Given the description of an element on the screen output the (x, y) to click on. 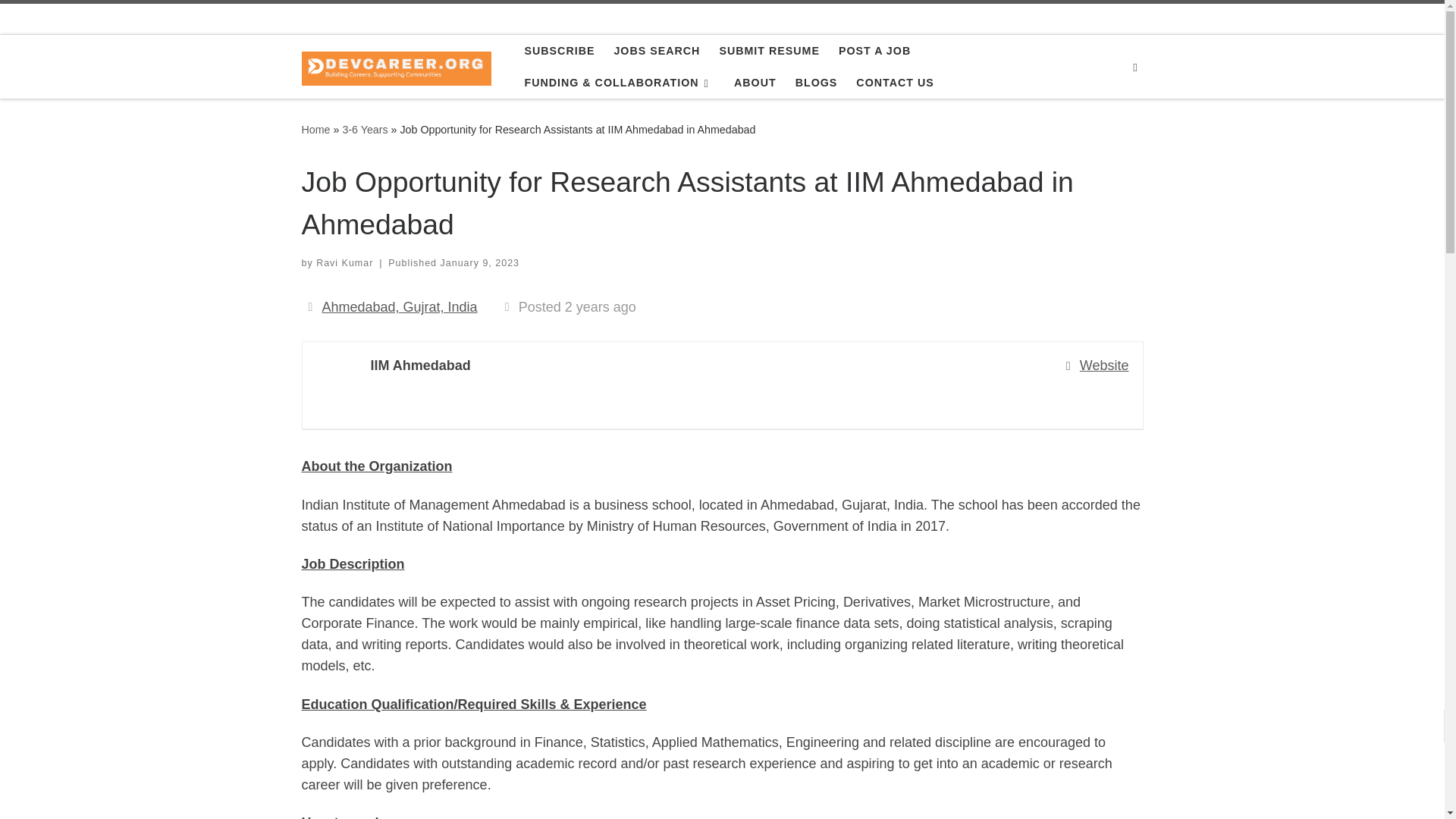
Skip to content (60, 20)
View all posts by Ravi Kumar (343, 262)
January 9, 2023 (480, 262)
3-6 Years (364, 129)
JOBS SEARCH (656, 50)
3:30 pm (480, 262)
3-6 Years (364, 129)
SUBMIT RESUME (769, 50)
POST A JOB (874, 50)
SUBSCRIBE (558, 50)
Ravi Kumar (343, 262)
ABOUT (754, 82)
BLOGS (815, 82)
CONTACT US (895, 82)
Home (315, 129)
